Given the description of an element on the screen output the (x, y) to click on. 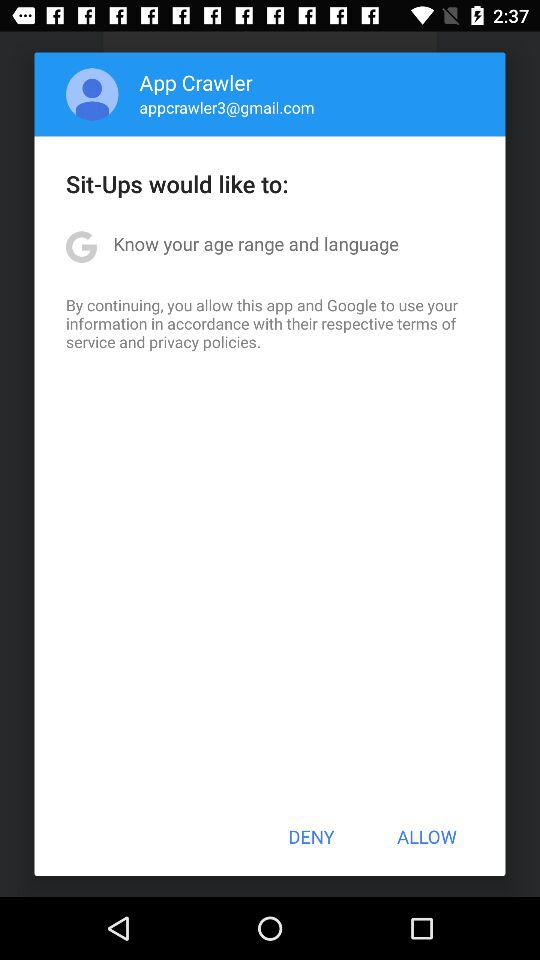
choose the deny item (311, 836)
